Given the description of an element on the screen output the (x, y) to click on. 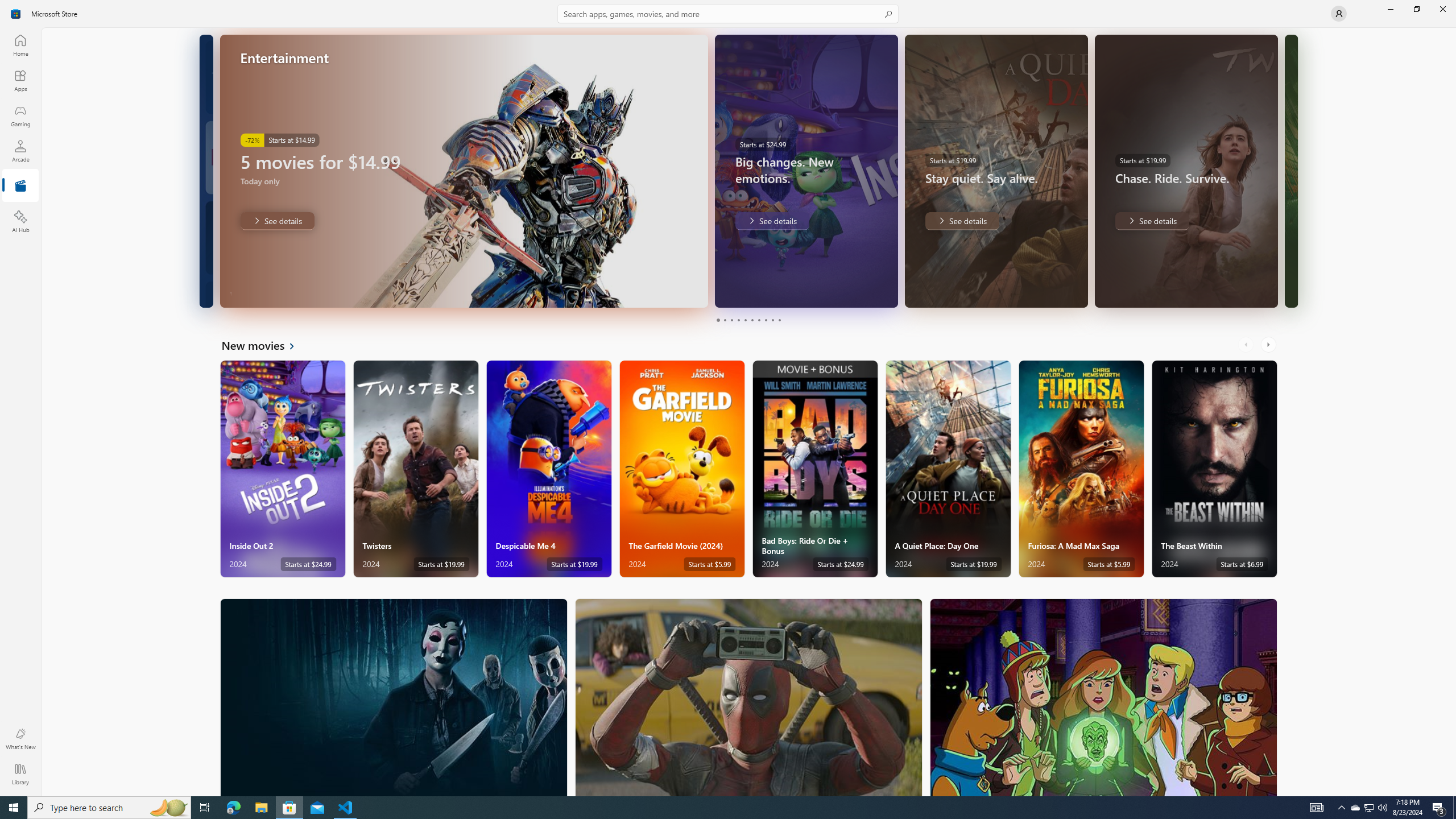
Page 8 (764, 319)
Play Trailer (668, 291)
Page 2 (724, 319)
AutomationID: Image (1290, 170)
Page 4 (738, 319)
Close Microsoft Store (1442, 9)
Page 7 (758, 319)
Apps (20, 80)
Library (20, 773)
AutomationID: NavigationControl (728, 398)
See all  New movies (264, 345)
Family (1102, 697)
